Given the description of an element on the screen output the (x, y) to click on. 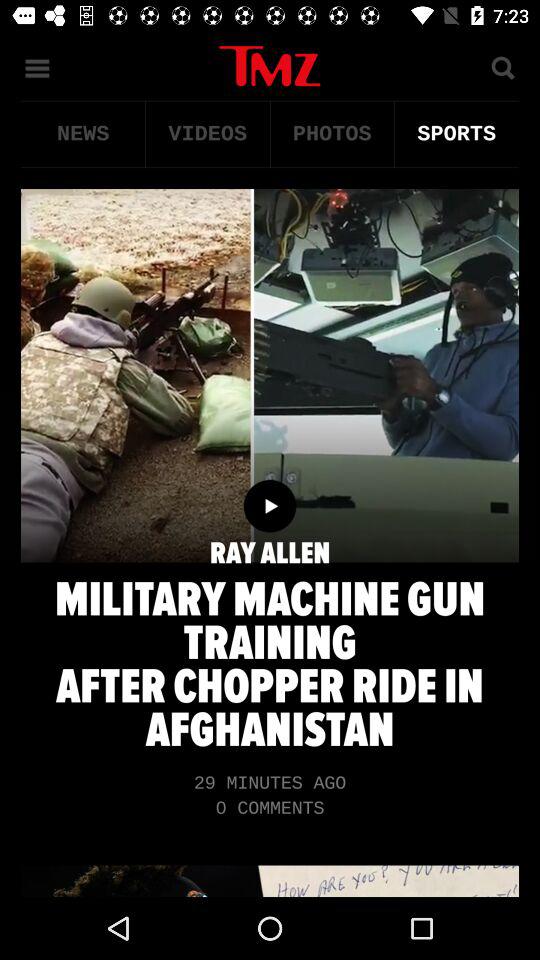
jump to sports icon (456, 133)
